Given the description of an element on the screen output the (x, y) to click on. 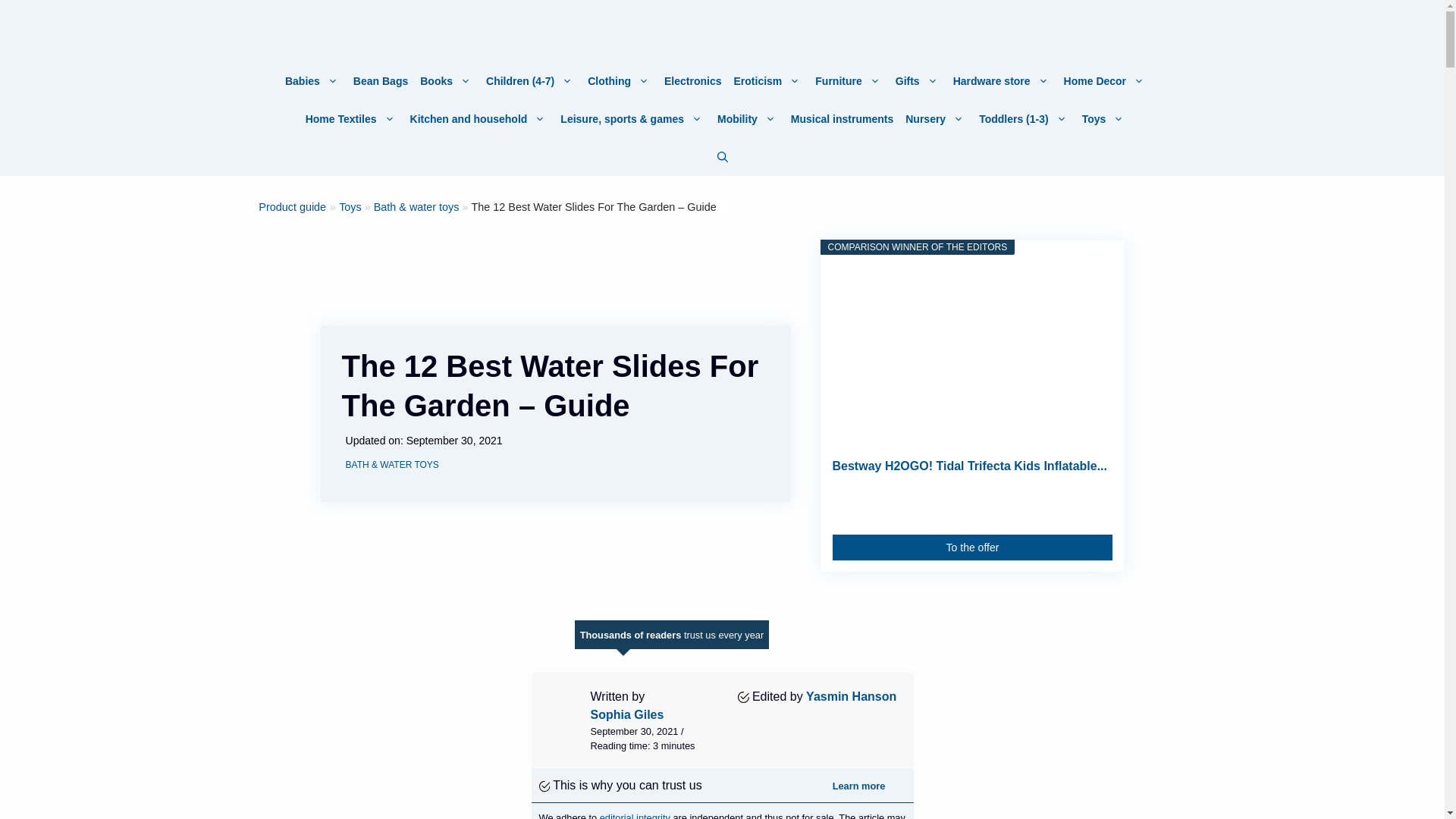
To the offer (972, 547)
Author-Name (626, 714)
Author-Name (851, 696)
Amazon Prime (1091, 506)
Category Name (350, 206)
